Given the description of an element on the screen output the (x, y) to click on. 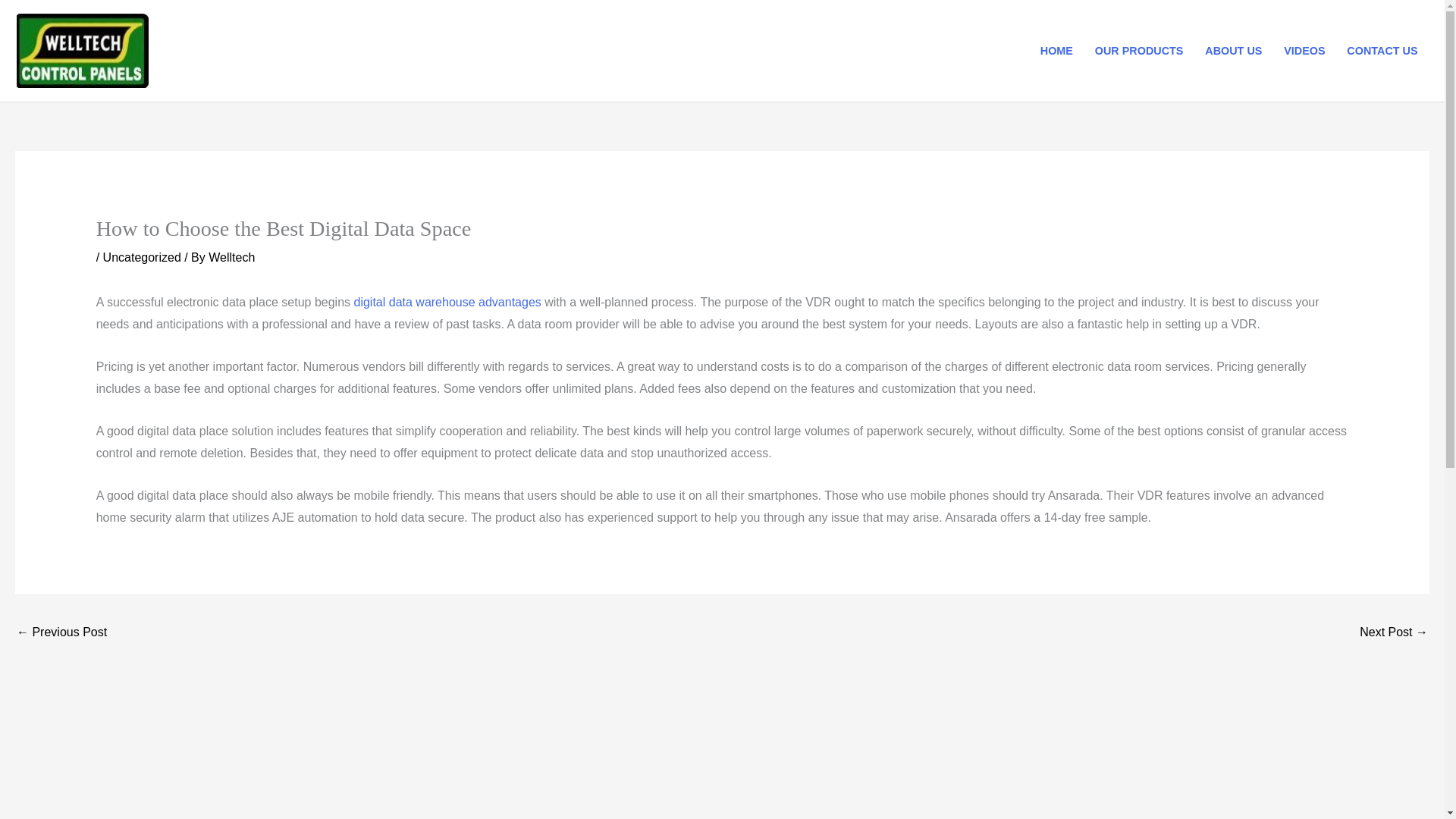
ABOUT US (1232, 50)
1xbet App Obtain For Android Gamers (61, 633)
digital data warehouse advantages (446, 301)
Welltech (231, 256)
Uncategorized (141, 256)
Several types of Data Room Software (1393, 633)
CONTACT US (1382, 50)
OUR PRODUCTS (1138, 50)
View all posts by Welltech (231, 256)
